Given the description of an element on the screen output the (x, y) to click on. 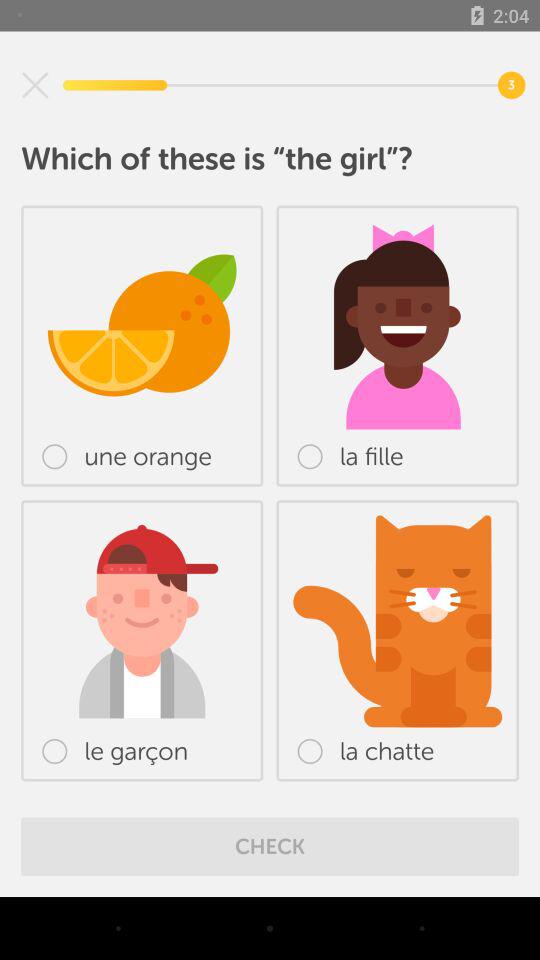
choose the icon above the which of these icon (35, 85)
